Given the description of an element on the screen output the (x, y) to click on. 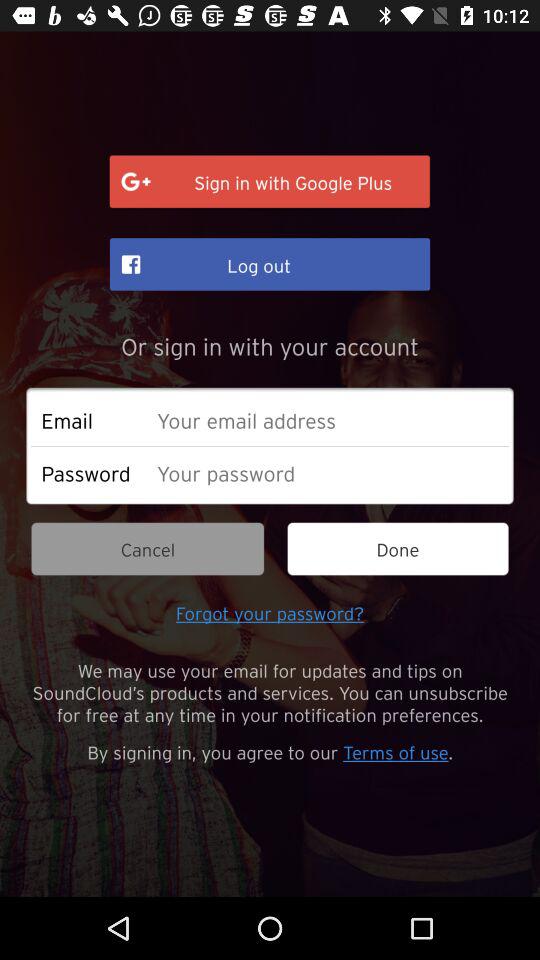
turn off item to the left of done item (147, 548)
